Given the description of an element on the screen output the (x, y) to click on. 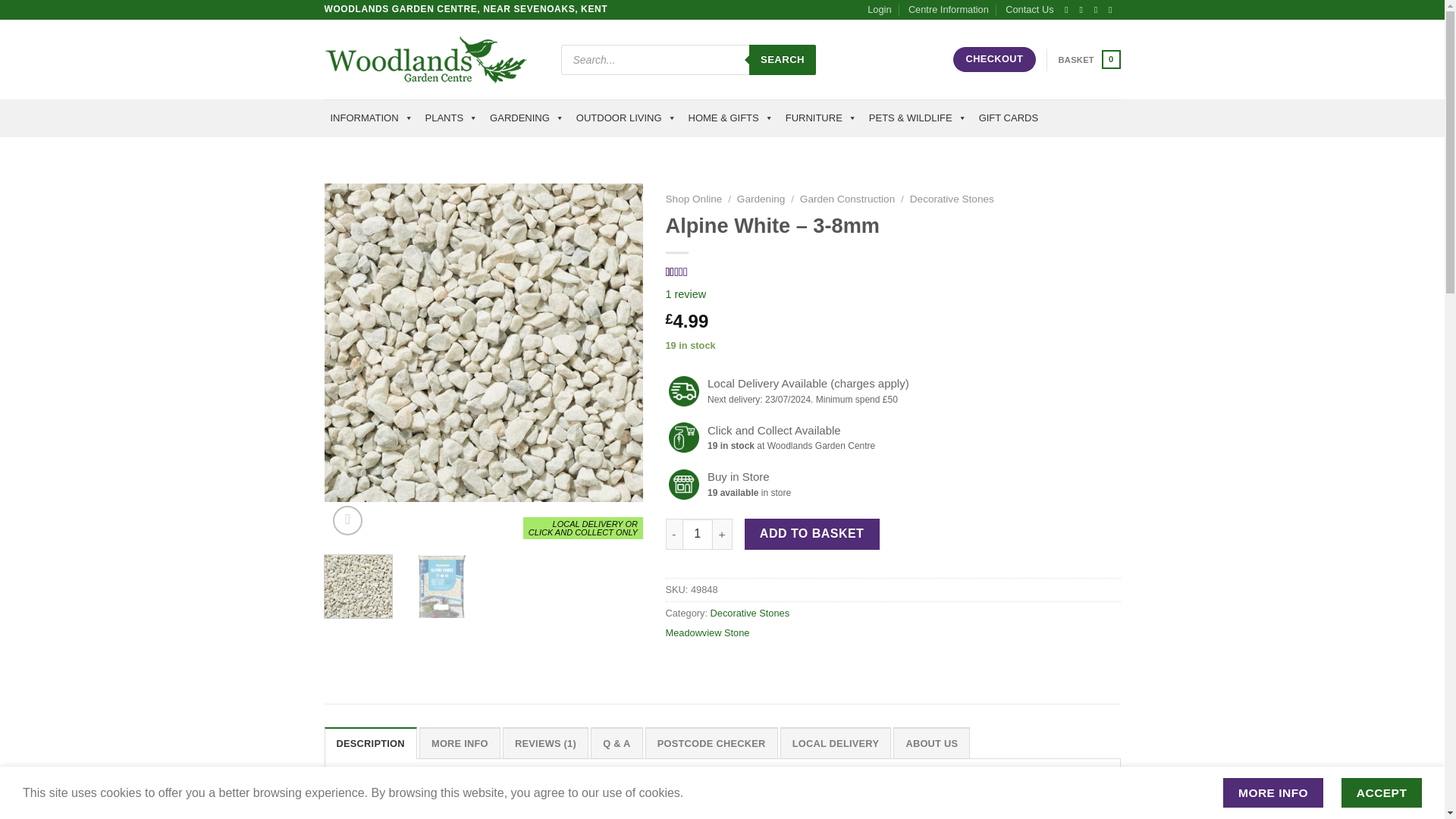
Zoom (347, 520)
Login (879, 9)
Centre Information (948, 9)
PLANTS (451, 118)
View brand (707, 632)
INFORMATION (371, 118)
SEARCH (782, 59)
CHECKOUT (994, 59)
1 (697, 533)
Basket (1089, 59)
Woodlands Garden Centre (1089, 59)
Contact Us (431, 58)
